Given the description of an element on the screen output the (x, y) to click on. 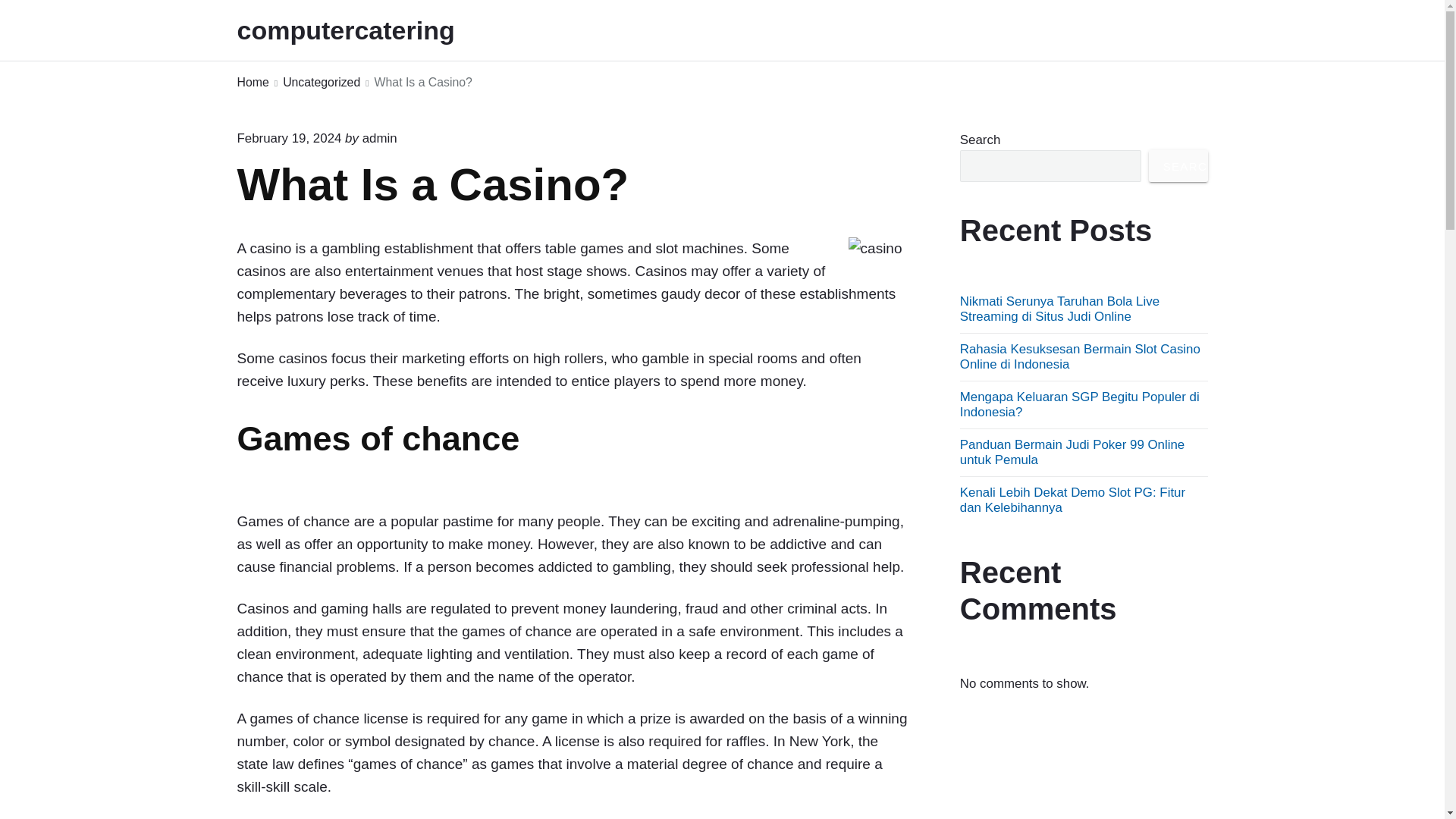
admin (379, 138)
SEARCH (1178, 165)
computercatering (365, 30)
Uncategorized (320, 82)
Panduan Bermain Judi Poker 99 Online untuk Pemula (1072, 451)
Mengapa Keluaran SGP Begitu Populer di Indonesia? (1079, 404)
Monday, February 19, 2024, 8:27 pm (287, 138)
Home (251, 82)
Rahasia Kesuksesan Bermain Slot Casino Online di Indonesia (1079, 356)
Posts by admin (379, 138)
Kenali Lebih Dekat Demo Slot PG: Fitur dan Kelebihannya (1072, 500)
